Given the description of an element on the screen output the (x, y) to click on. 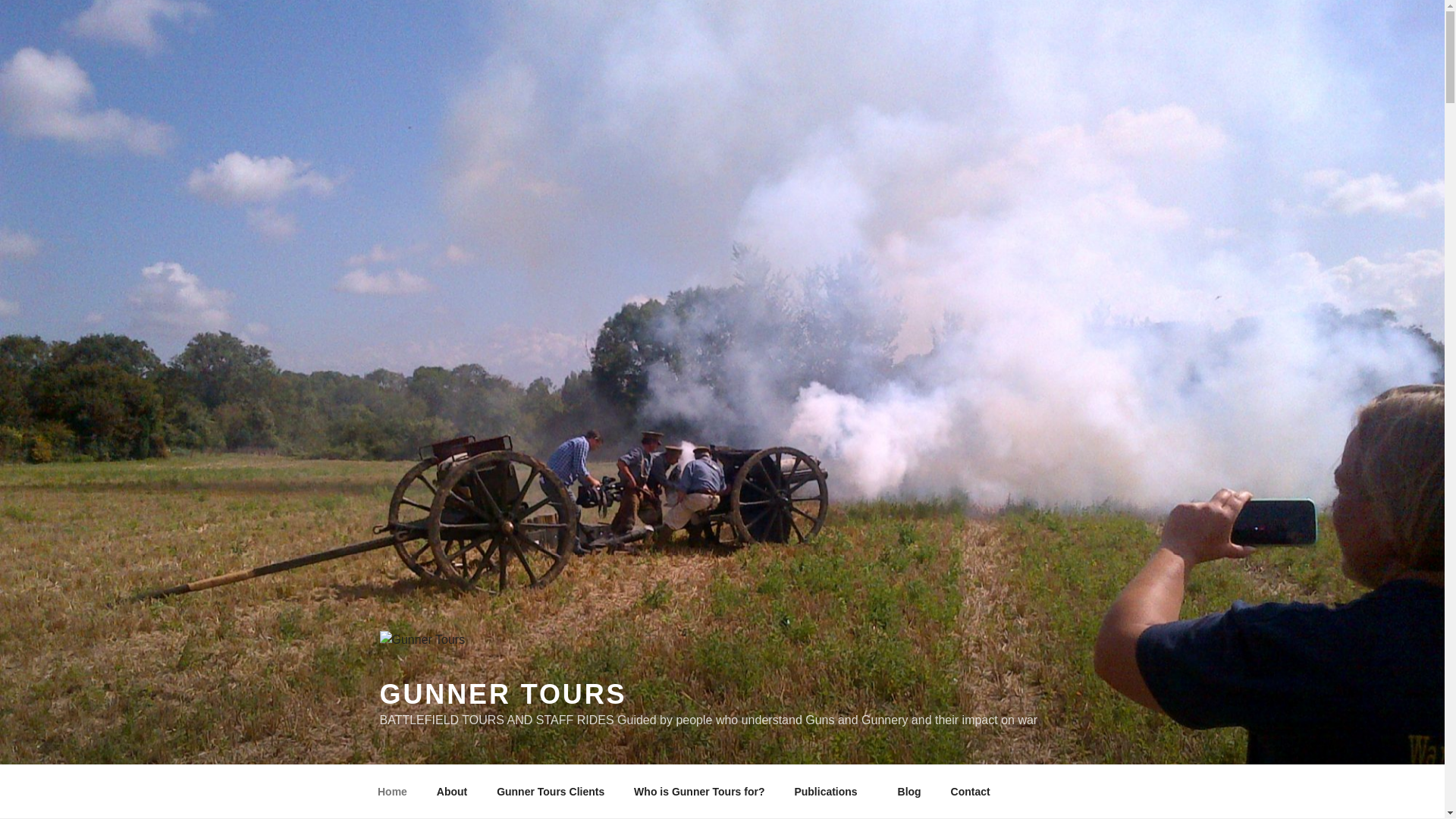
GUNNER TOURS (502, 694)
Home (392, 791)
Contact (970, 791)
About (451, 791)
Gunner Tours Clients (550, 791)
Blog (908, 791)
Who is Gunner Tours for? (699, 791)
Publications (830, 791)
Scroll down to content (1082, 791)
